Given the description of an element on the screen output the (x, y) to click on. 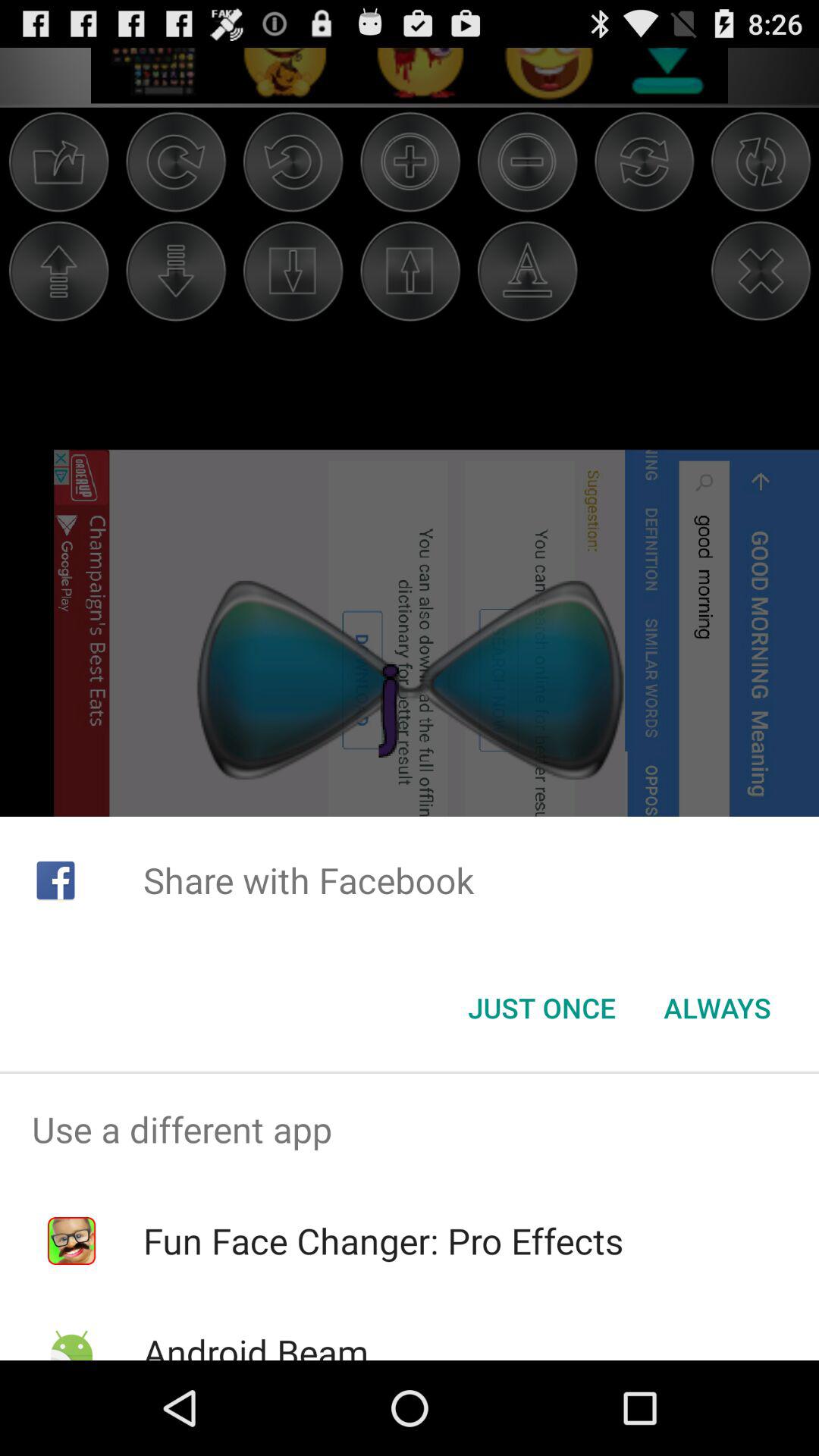
click the icon next to the always (541, 1007)
